Given the description of an element on the screen output the (x, y) to click on. 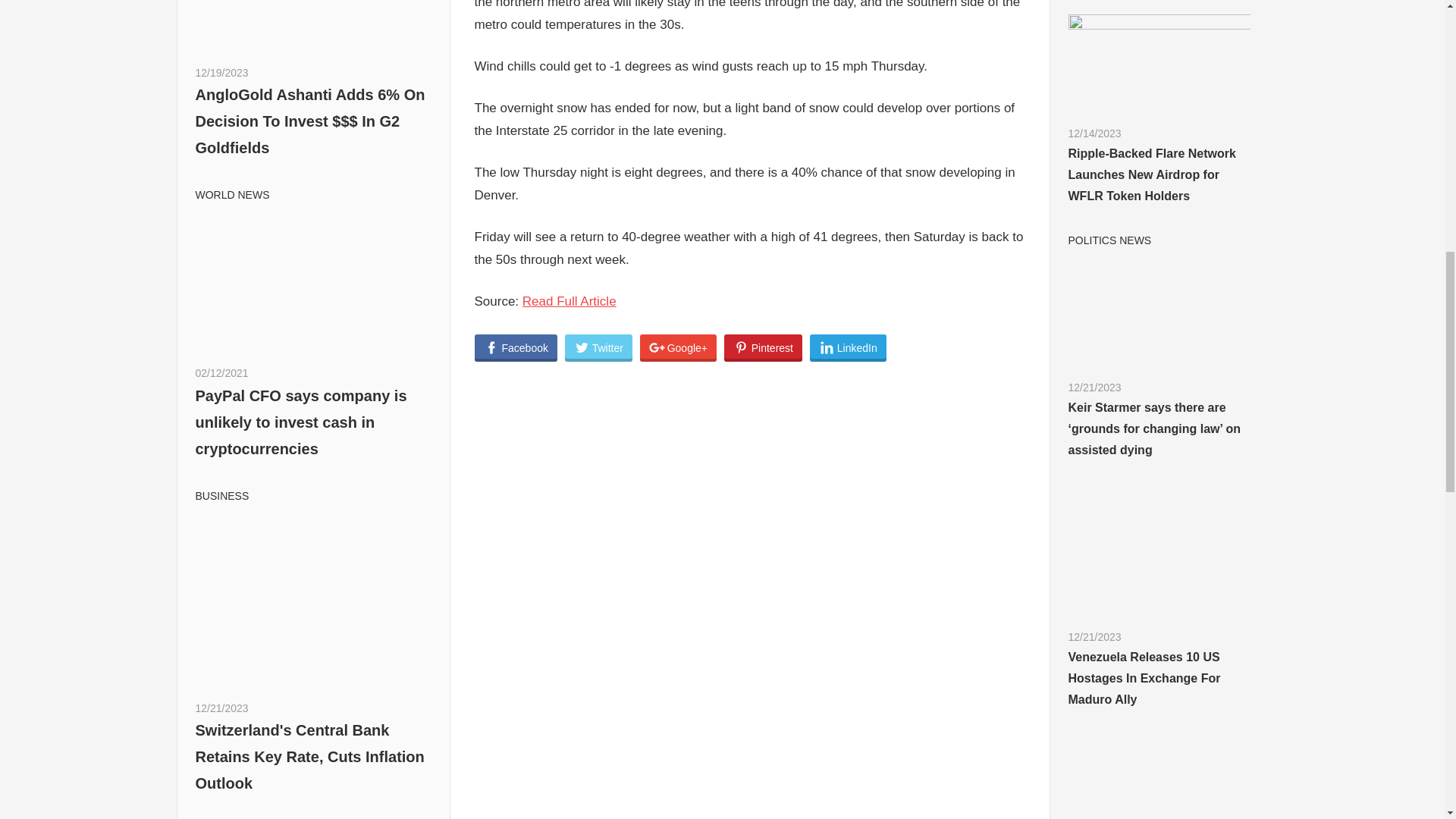
Twitter (597, 347)
9:39 am (221, 707)
Facebook (515, 347)
WORLD NEWS (232, 194)
LinkedIn (847, 347)
Read Full Article (568, 301)
View all posts from category World (232, 194)
2:34 am (221, 372)
5:38 pm (221, 72)
View all posts from category Business (221, 495)
